Given the description of an element on the screen output the (x, y) to click on. 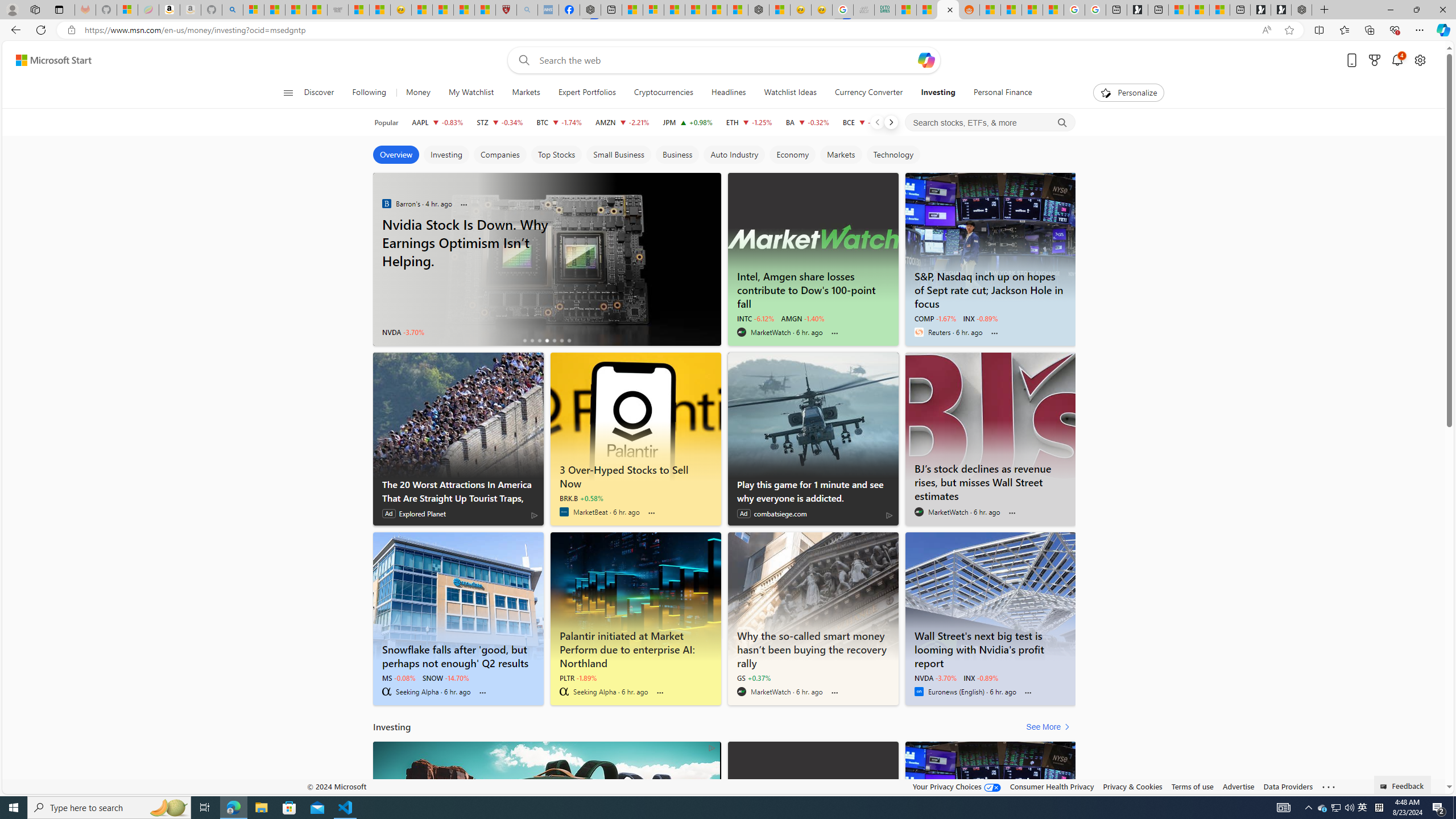
NCL Adult Asthma Inhaler Choice Guideline - Sleeping (547, 9)
Discover (319, 92)
Watchlist Ideas (790, 92)
Play Free Online Games | Games from Microsoft Start (1280, 9)
Navy Quest (863, 9)
App bar (728, 29)
Cryptocurrencies (663, 92)
PLTR -1.89% (577, 677)
Collections (1369, 29)
